Given the description of an element on the screen output the (x, y) to click on. 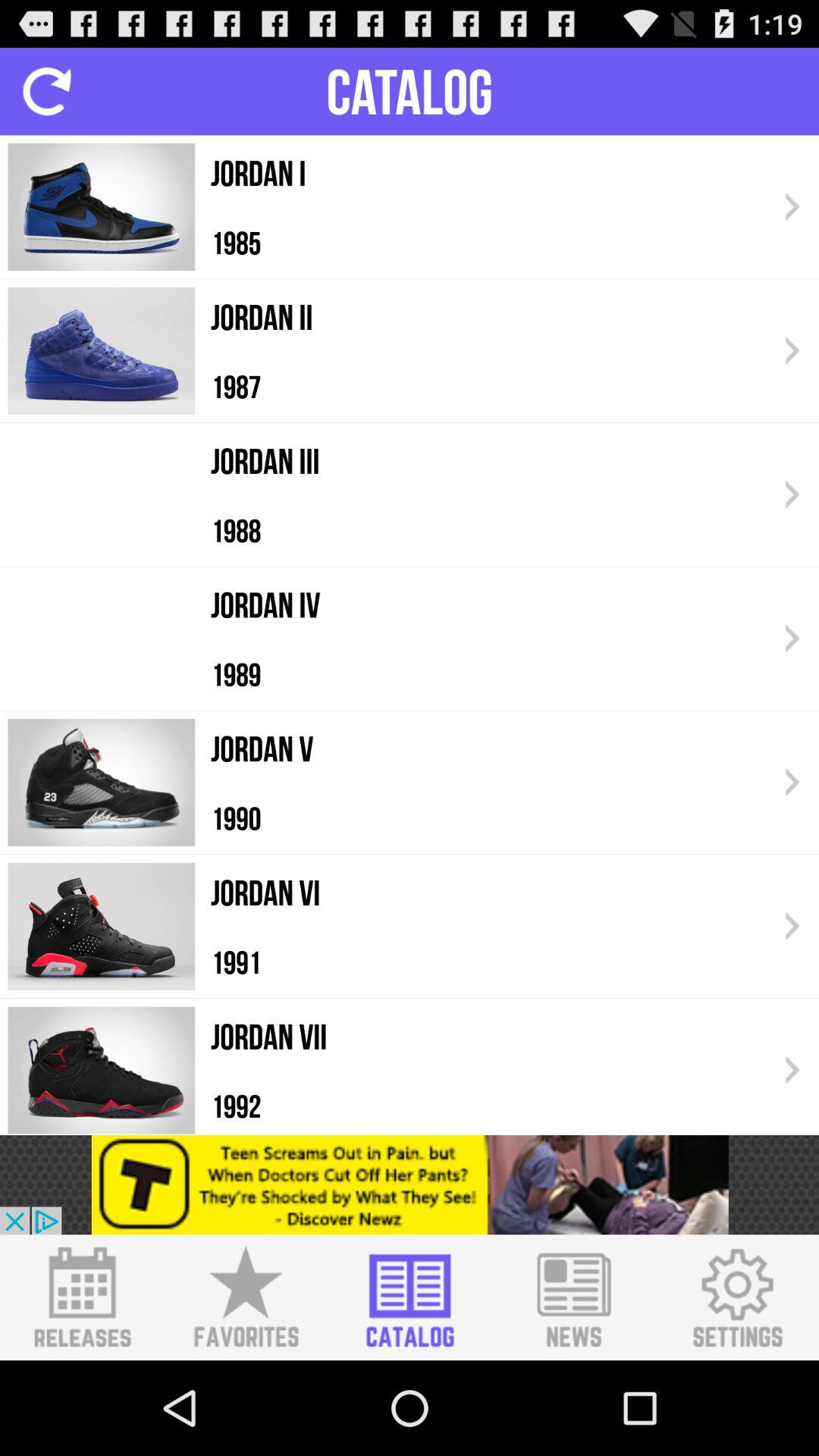
shows the advertisement tab (409, 1184)
